Given the description of an element on the screen output the (x, y) to click on. 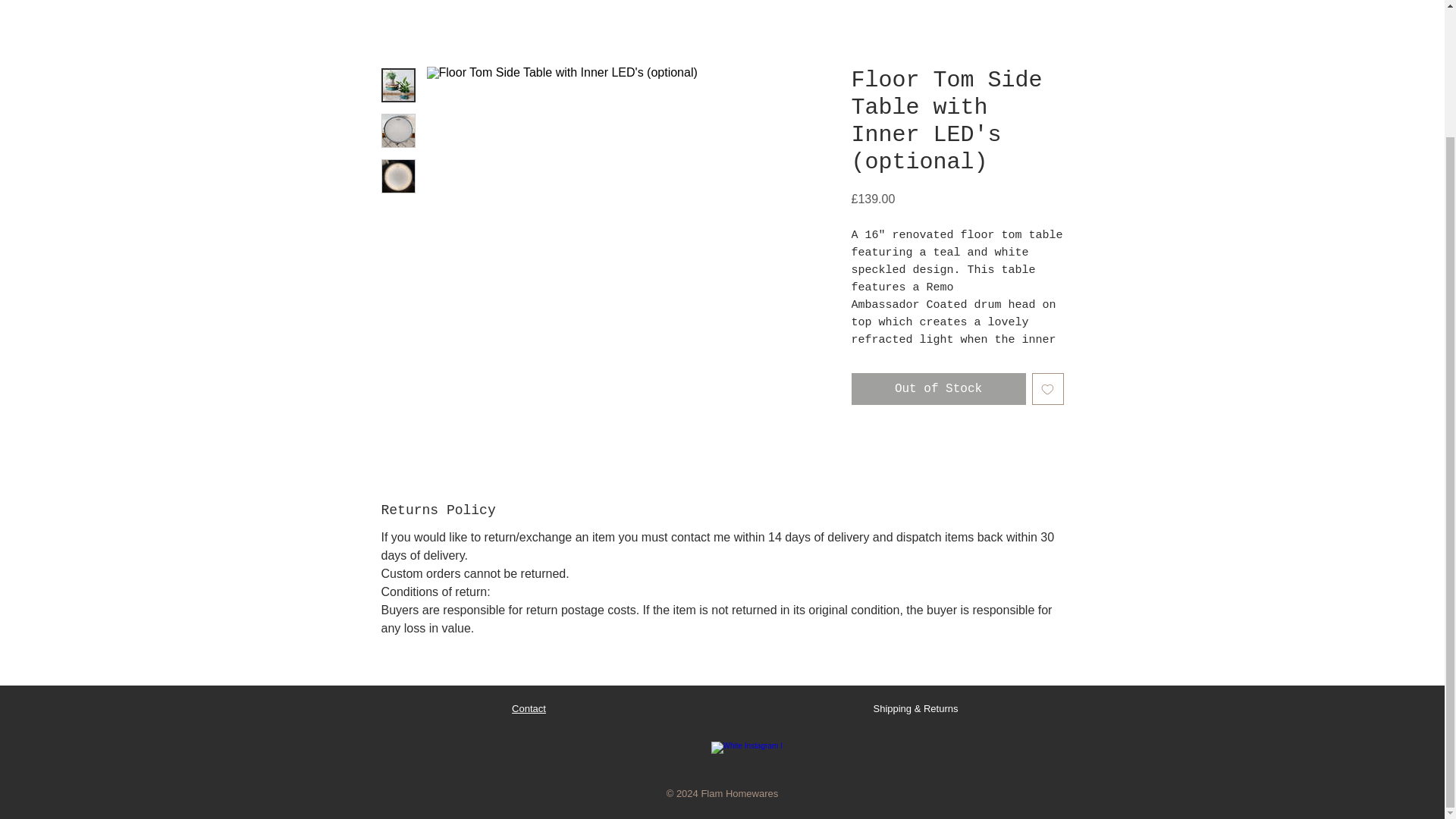
Out of Stock (937, 388)
Contact (529, 708)
